Given the description of an element on the screen output the (x, y) to click on. 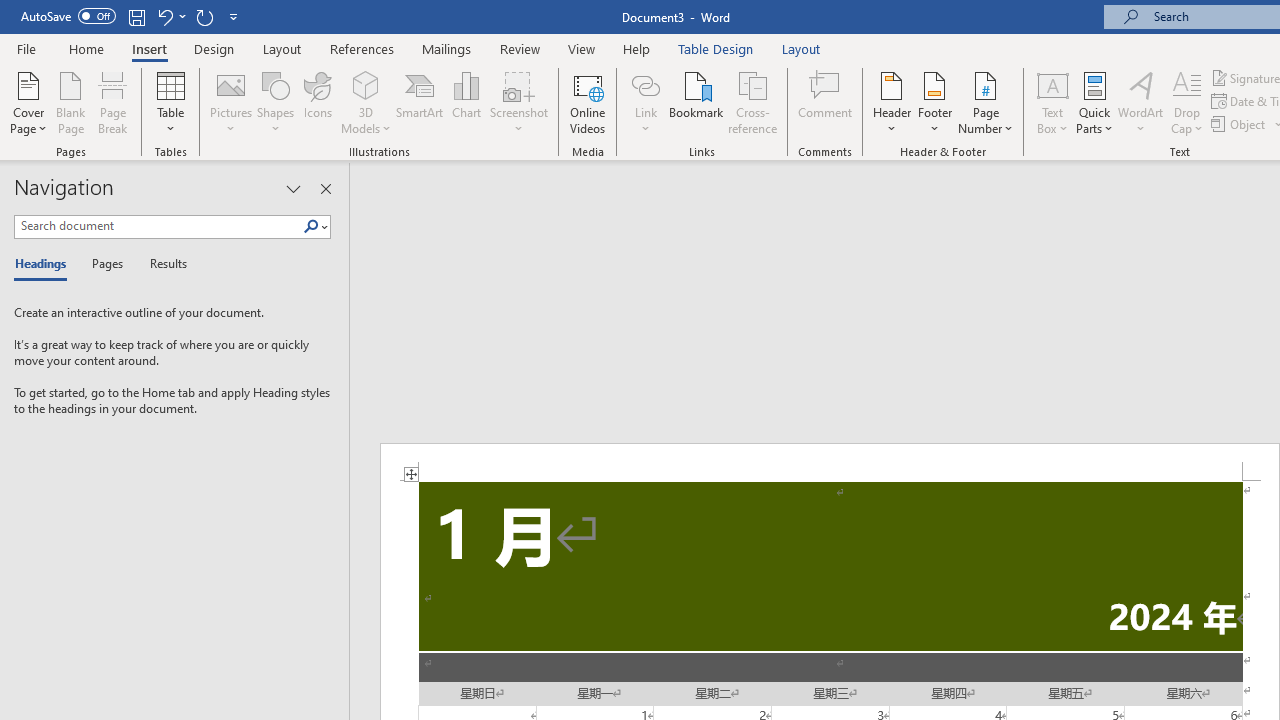
View (582, 48)
Search (315, 227)
Footer (934, 102)
Pages (105, 264)
Table (170, 102)
Review (520, 48)
Screenshot (518, 102)
Object... (1240, 124)
Search document (157, 226)
Search (311, 227)
Close pane (325, 188)
Header (891, 102)
SmartArt... (419, 102)
